Given the description of an element on the screen output the (x, y) to click on. 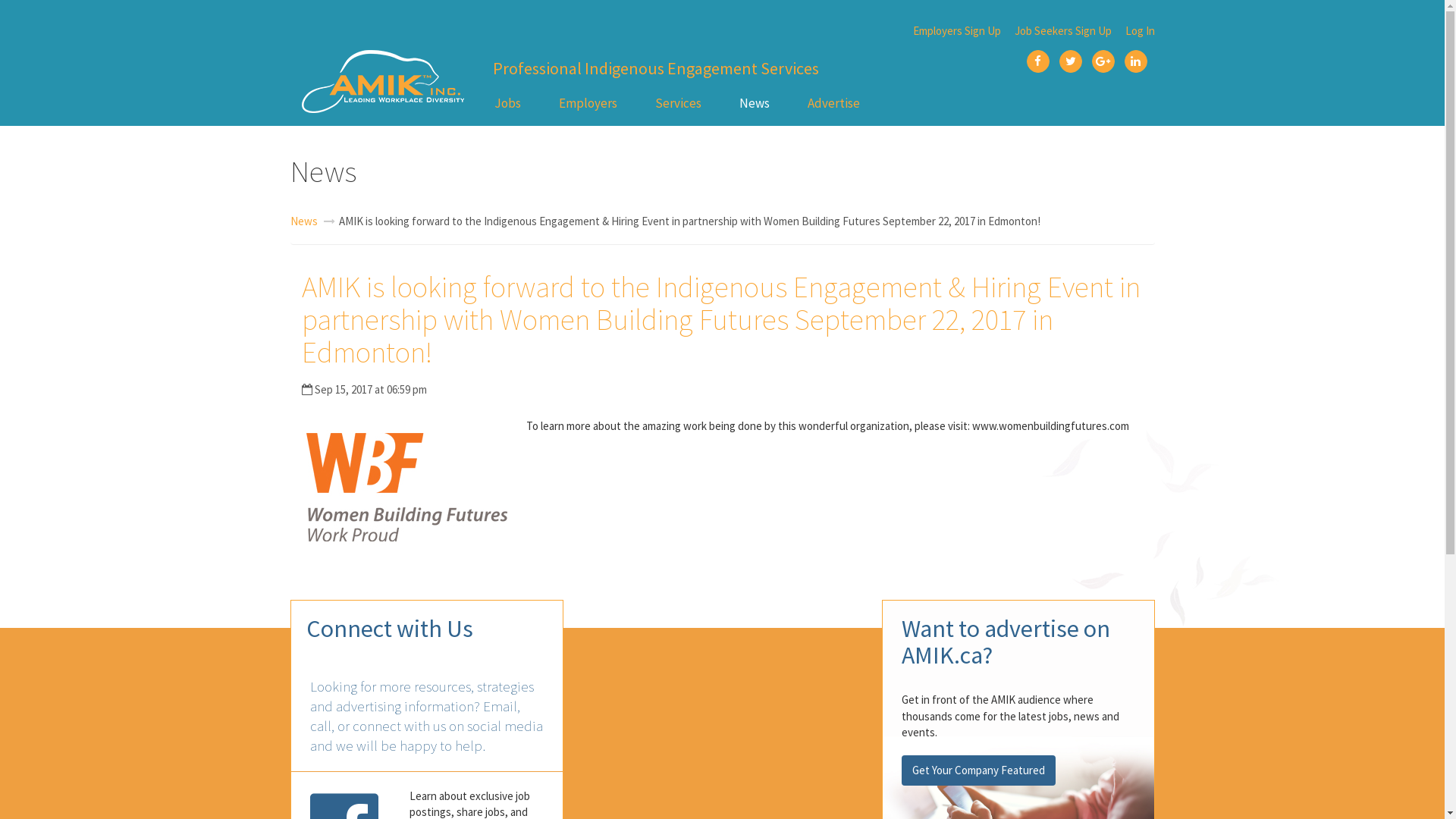
Advertise Element type: text (833, 102)
News Element type: text (754, 102)
News Element type: text (302, 220)
Log In Element type: text (1139, 30)
Employers Element type: text (587, 102)
Get Your Company Featured Element type: text (977, 769)
Employers Sign Up Element type: text (957, 30)
Services Element type: text (677, 102)
Job Seekers Sign Up Element type: text (1062, 30)
Jobs Element type: text (506, 102)
